Given the description of an element on the screen output the (x, y) to click on. 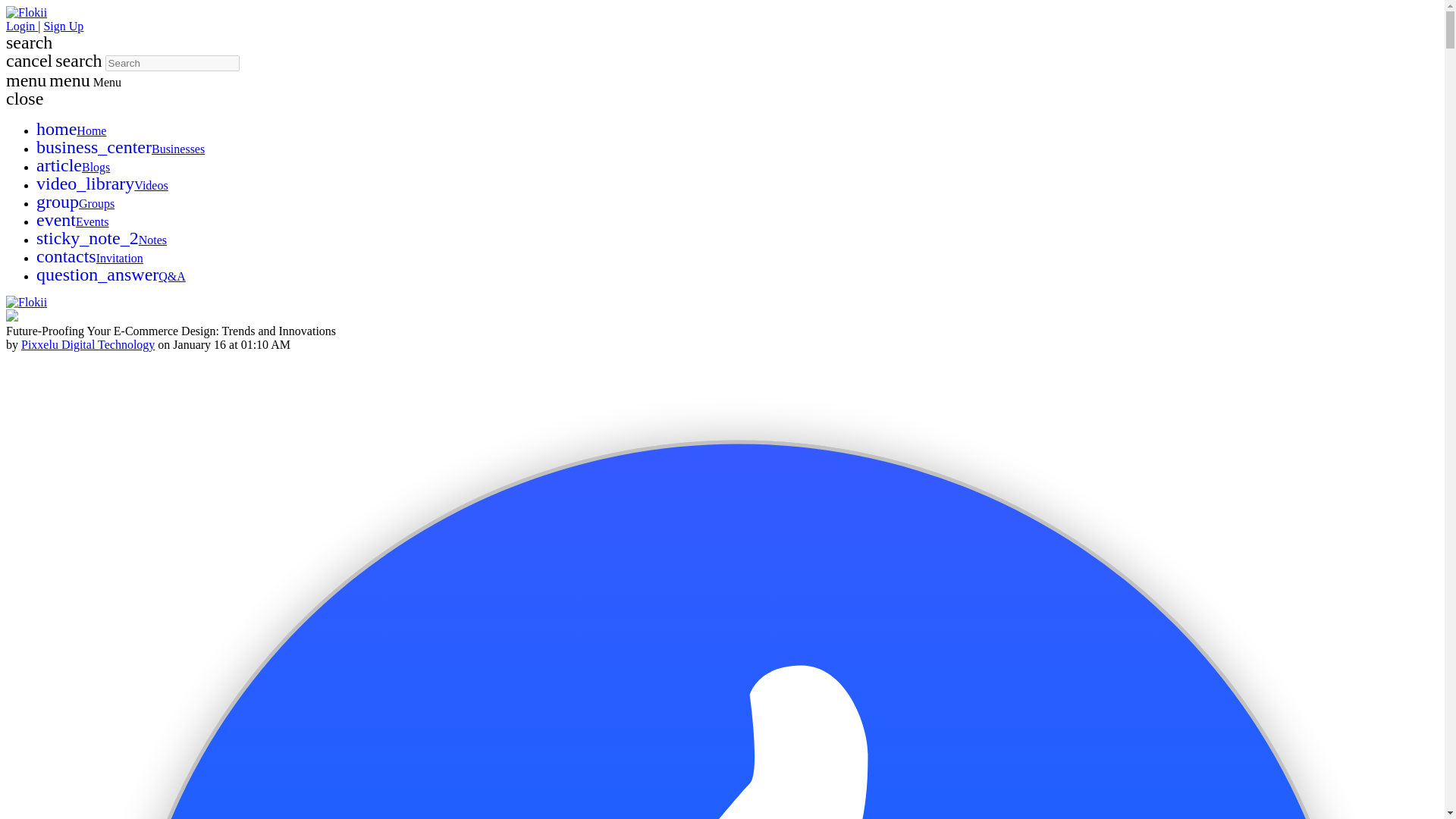
groupGroups (75, 203)
Sign Up (62, 25)
eventEvents (72, 221)
homeHome (71, 130)
Login (21, 25)
contactsInvitation (89, 257)
articleBlogs (73, 166)
Pixxelu Digital Technology (87, 344)
